Given the description of an element on the screen output the (x, y) to click on. 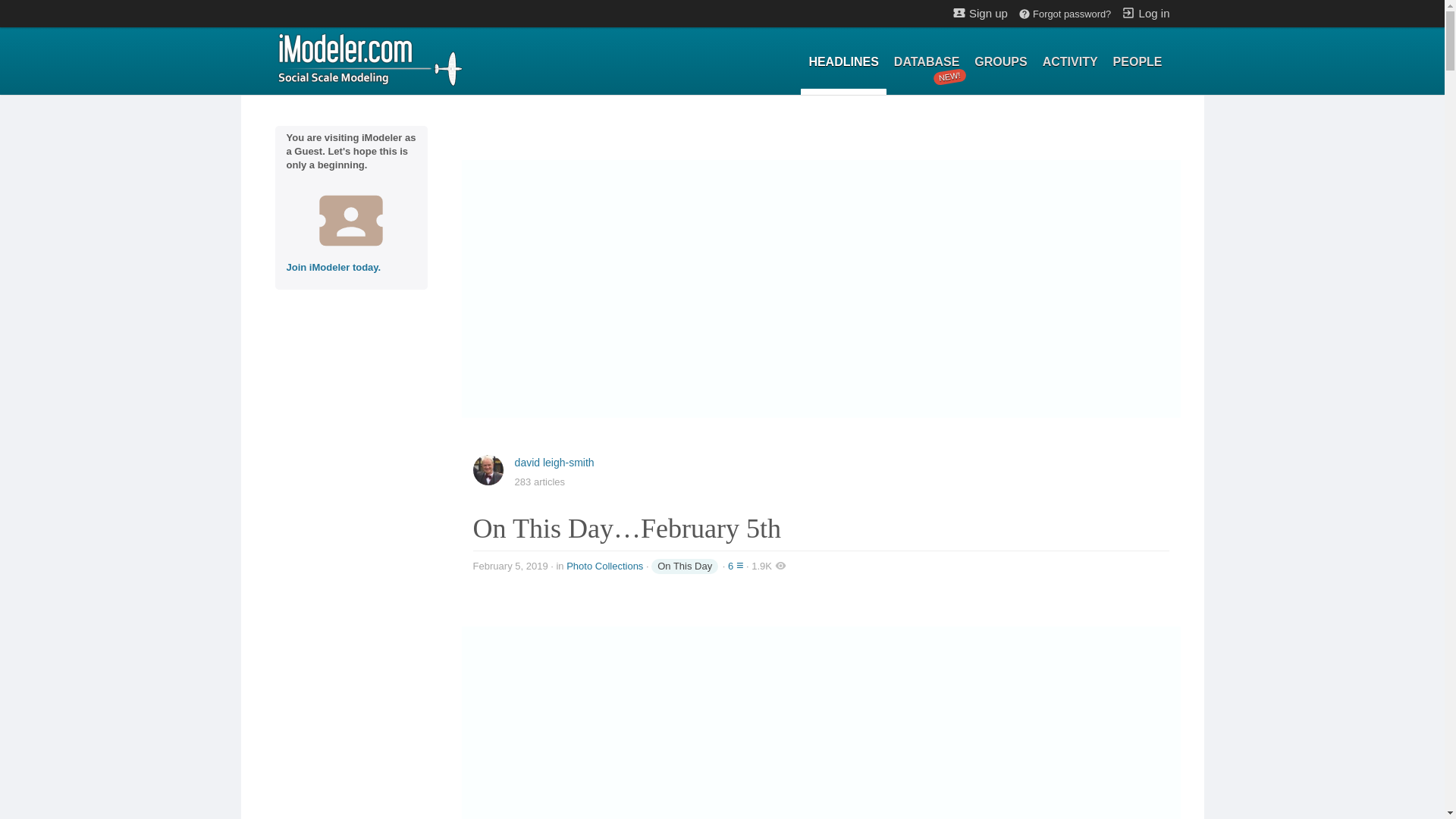
Forgot password? (1063, 13)
ACTIVITY (927, 61)
Advertisement (1070, 61)
PEOPLE (821, 734)
On This Day (1137, 61)
GROUPS (683, 566)
HEADLINES (999, 61)
Join iModeler today. (842, 61)
